Given the description of an element on the screen output the (x, y) to click on. 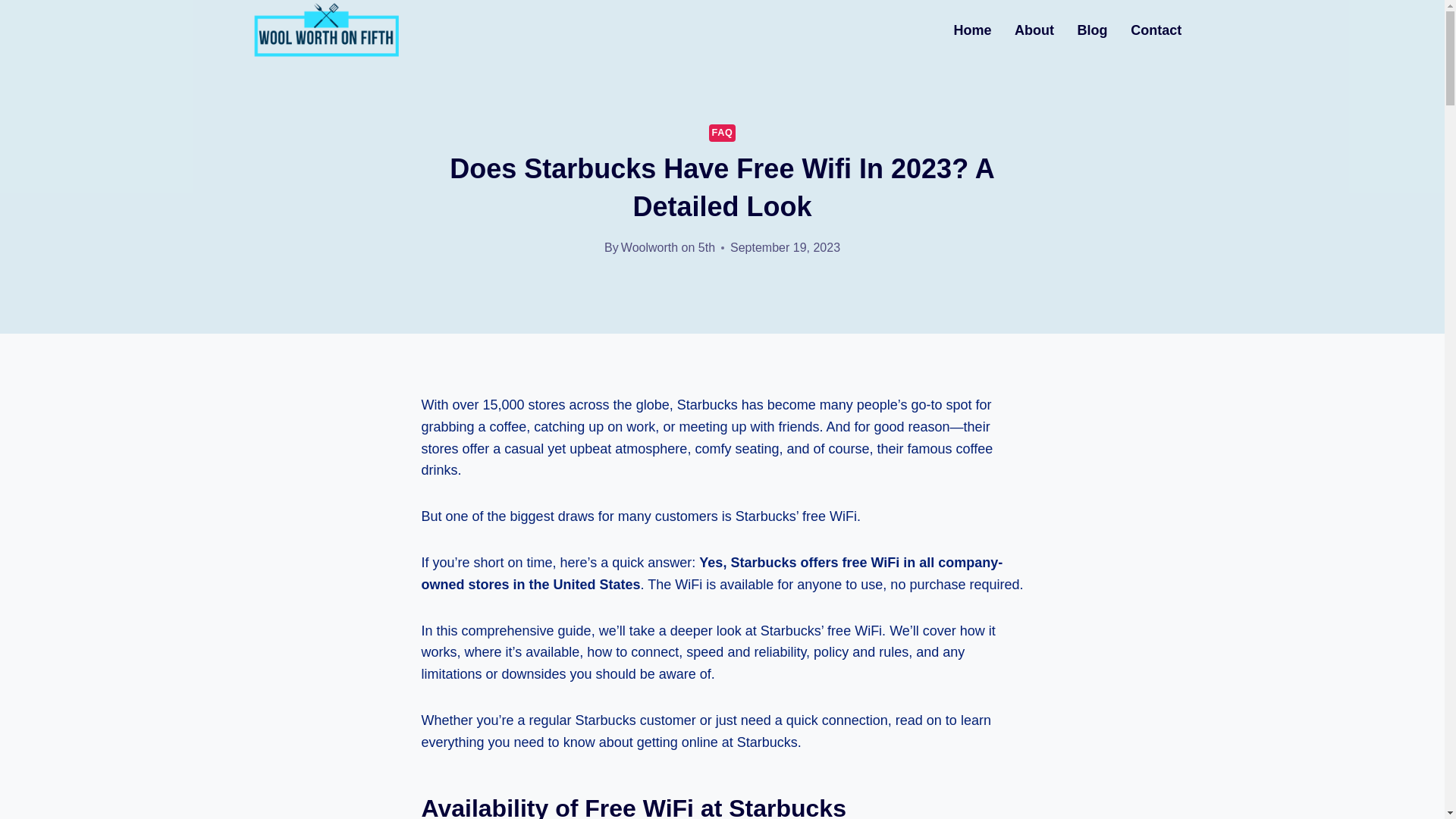
FAQ (722, 132)
Blog (1092, 30)
Home (972, 30)
About (1034, 30)
Contact (1156, 30)
Woolworth on 5th (667, 246)
